Given the description of an element on the screen output the (x, y) to click on. 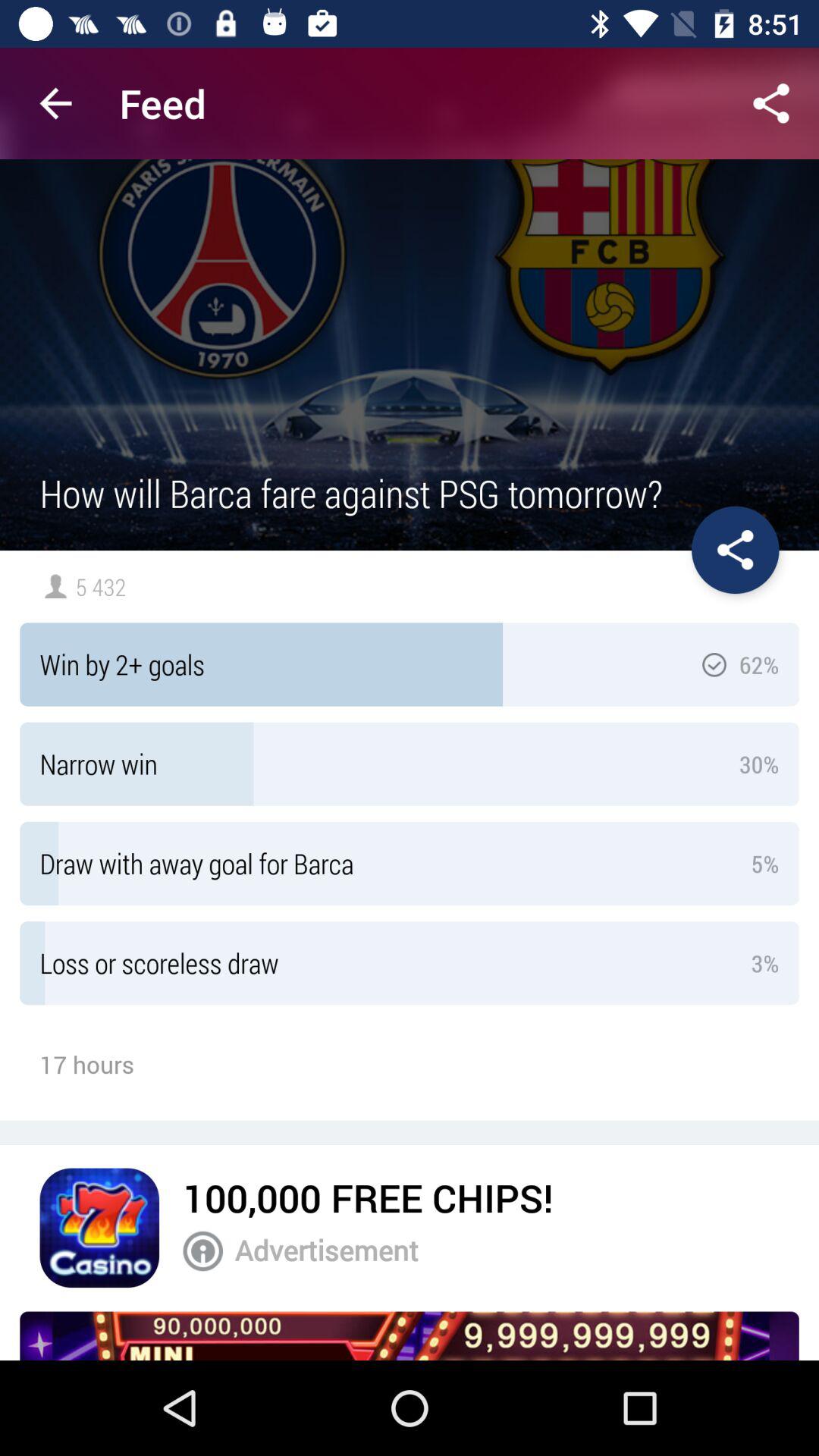
share the content (771, 103)
